Given the description of an element on the screen output the (x, y) to click on. 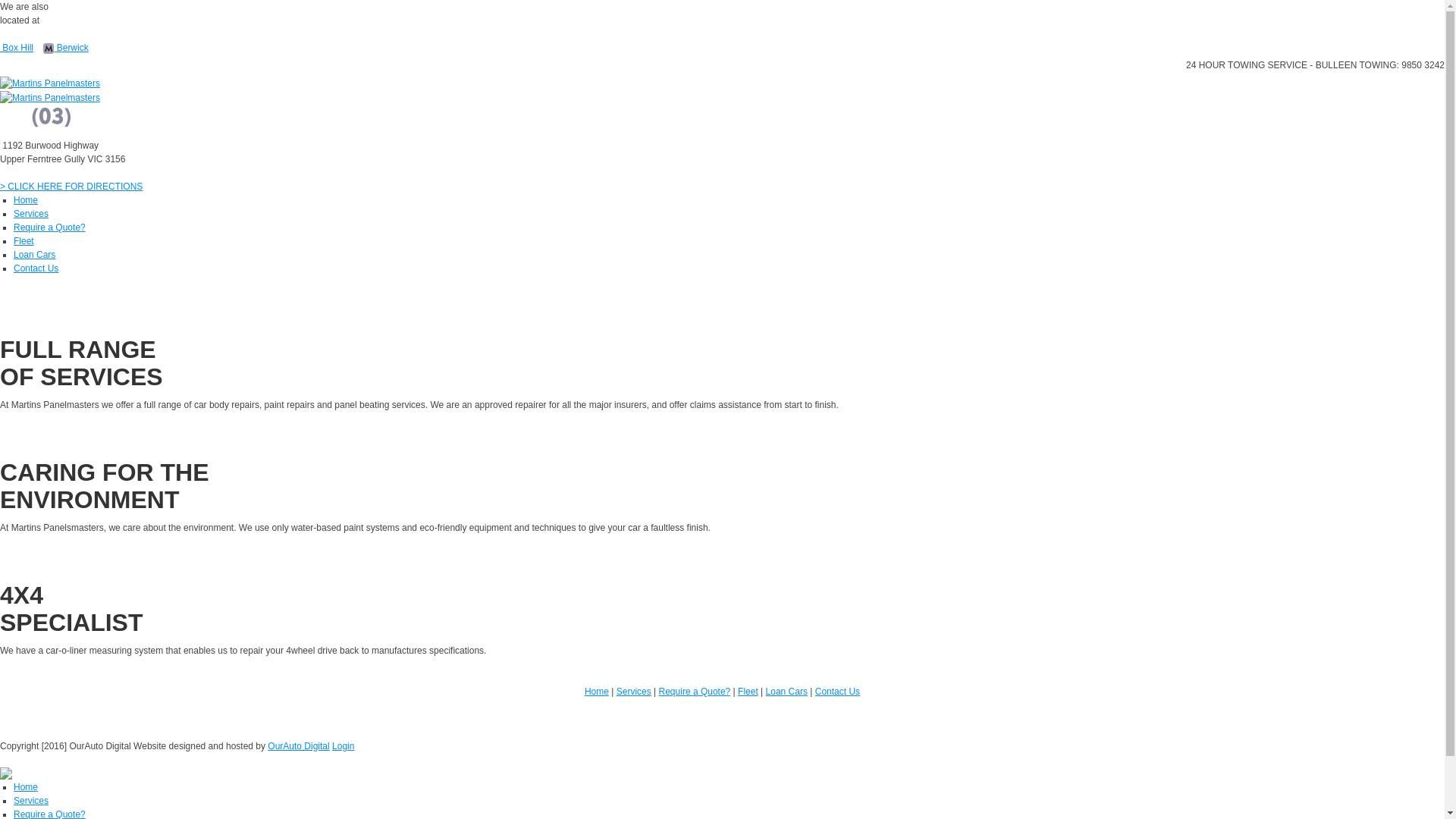
Box Hill Element type: text (16, 47)
OurAuto Digital Element type: text (298, 745)
Fleet Element type: text (23, 240)
Fleet Element type: text (747, 691)
Home Element type: text (596, 691)
Martins Panelmasters Element type: hover (50, 82)
B Element type: text (52, 47)
Loan Cars Element type: text (786, 691)
Services Element type: text (30, 213)
Home Element type: text (25, 786)
Require a Quote? Element type: text (694, 691)
Contact Us Element type: text (35, 268)
Loan Cars Element type: text (34, 254)
> CLICK HERE FOR DIRECTIONS Element type: text (71, 186)
Require a Quote? Element type: text (49, 227)
Services Element type: text (633, 691)
Login Element type: text (343, 745)
Contact Us Element type: text (837, 691)
erwick Element type: text (75, 47)
Martins Panelmasters Element type: hover (50, 96)
Services Element type: text (30, 800)
Home Element type: text (25, 199)
